Given the description of an element on the screen output the (x, y) to click on. 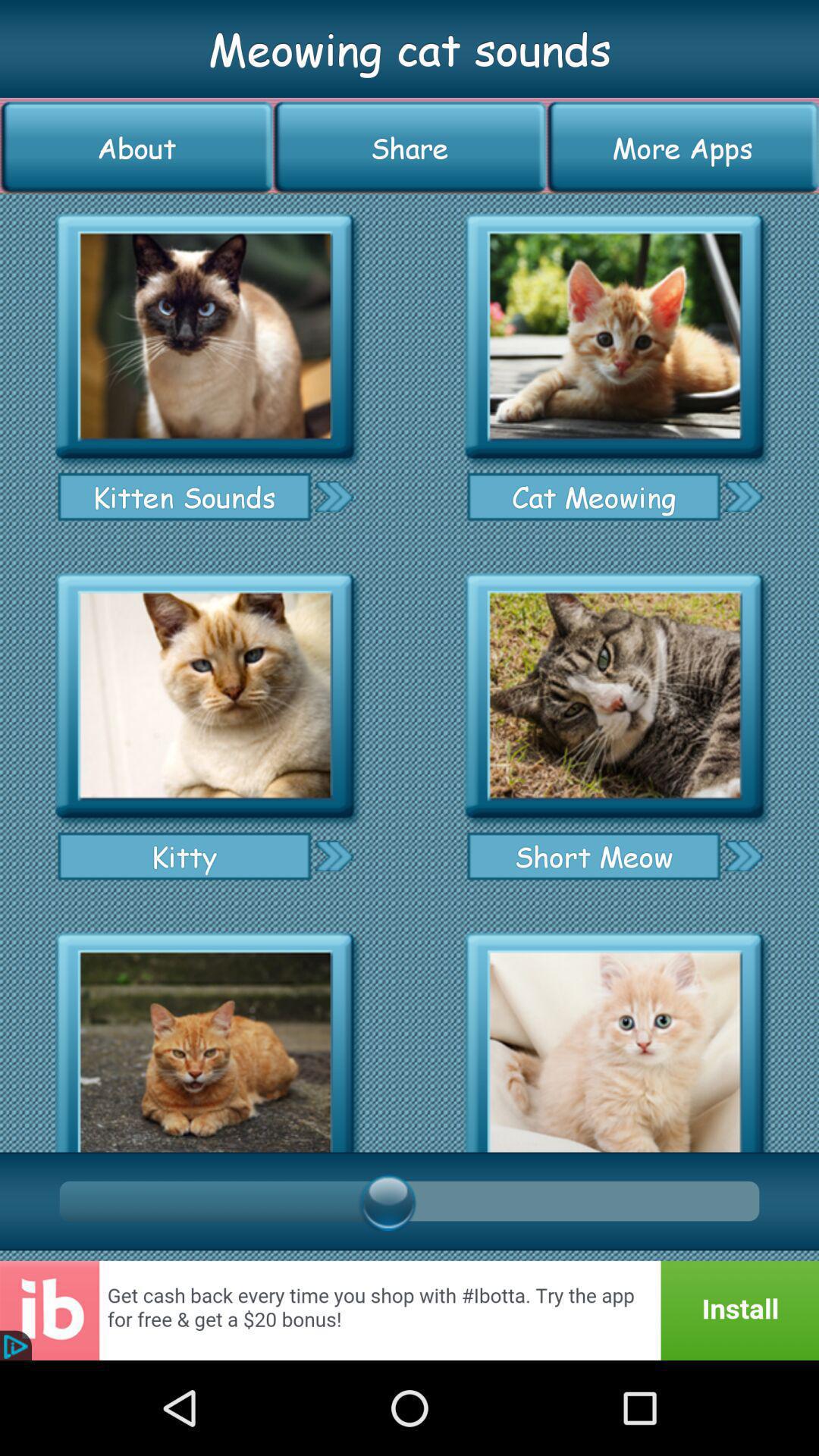
go next (333, 496)
